Given the description of an element on the screen output the (x, y) to click on. 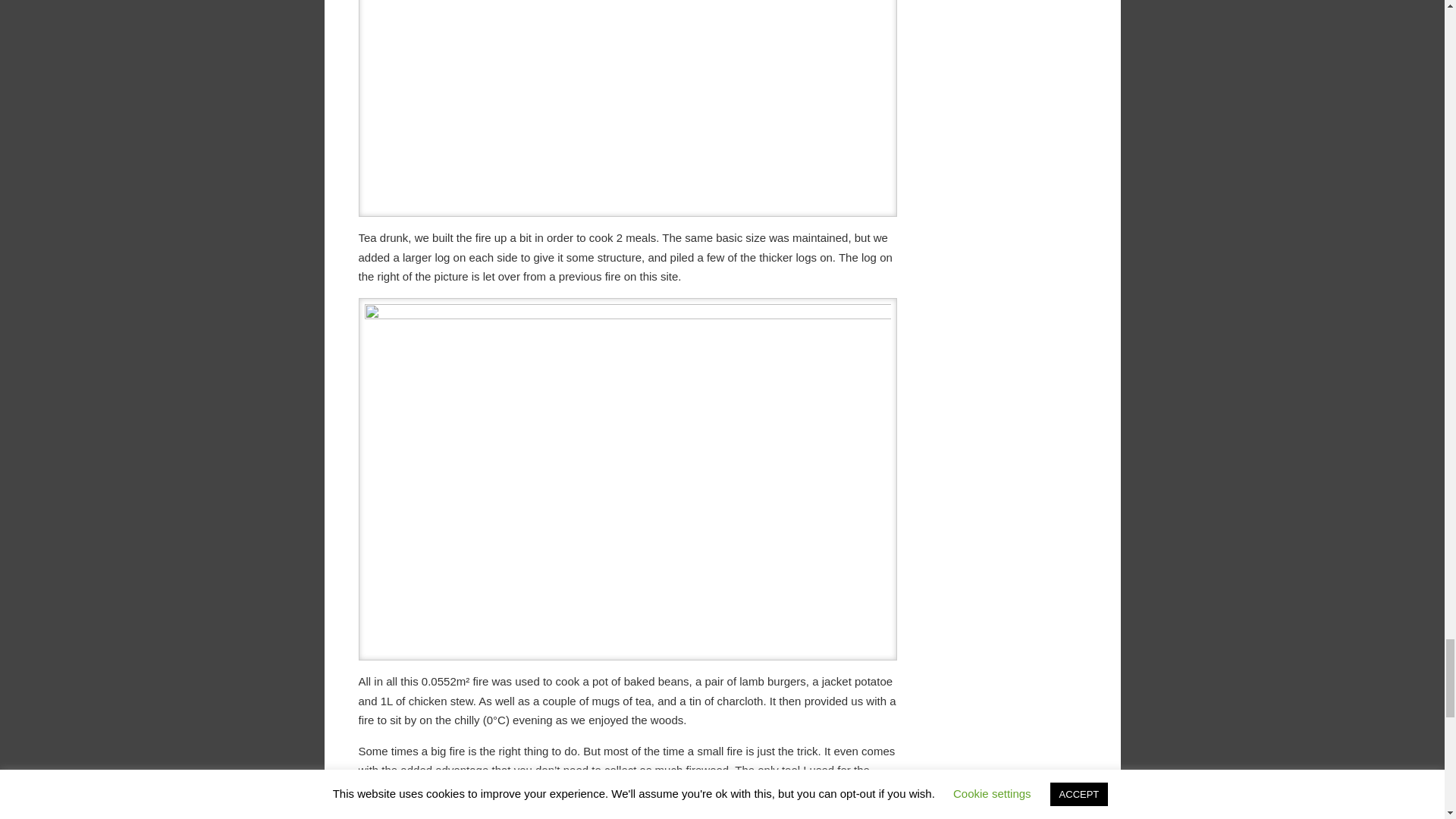
Bahco Laplander. (601, 789)
